Given the description of an element on the screen output the (x, y) to click on. 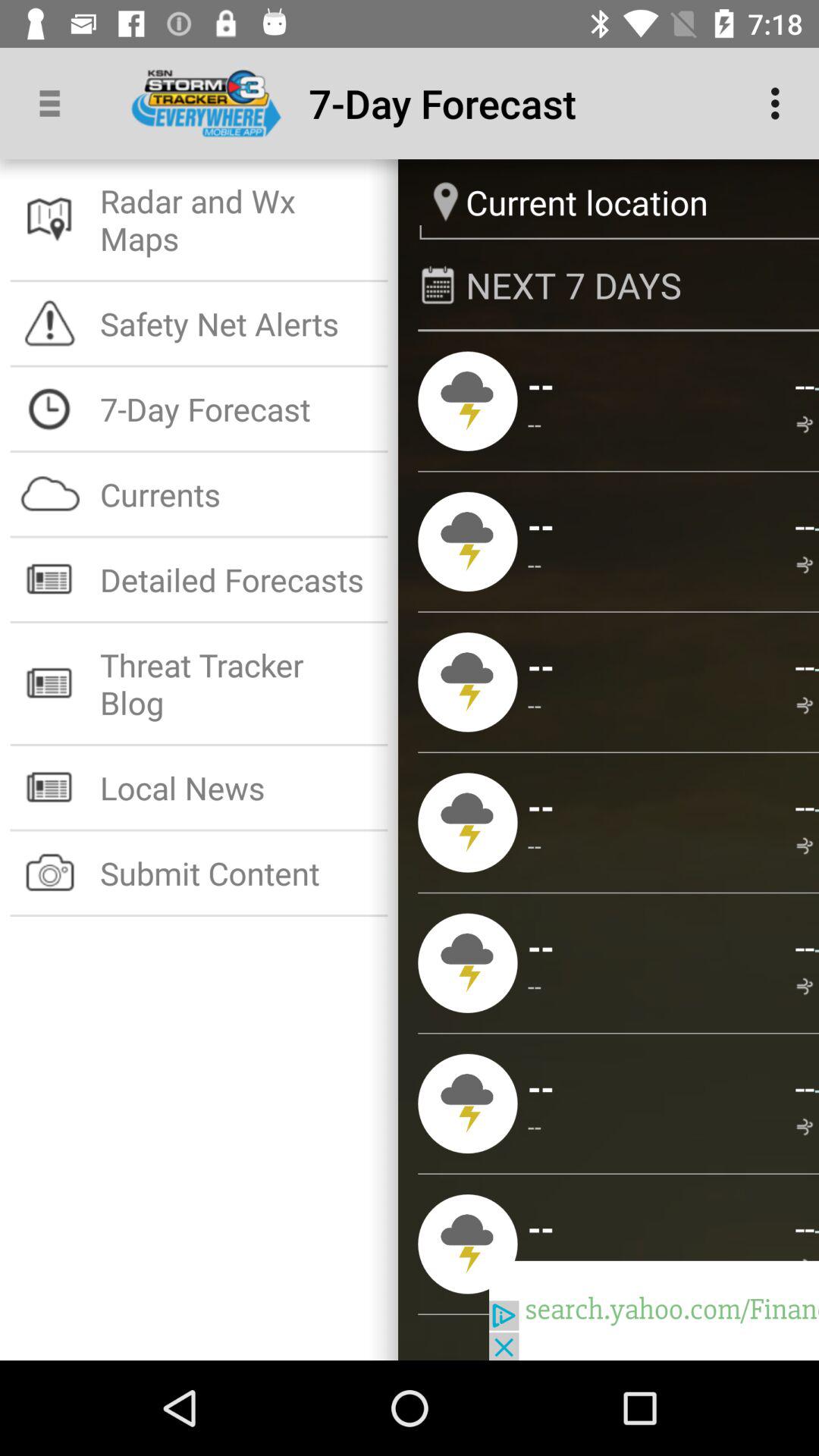
flip until the -- (807, 705)
